Given the description of an element on the screen output the (x, y) to click on. 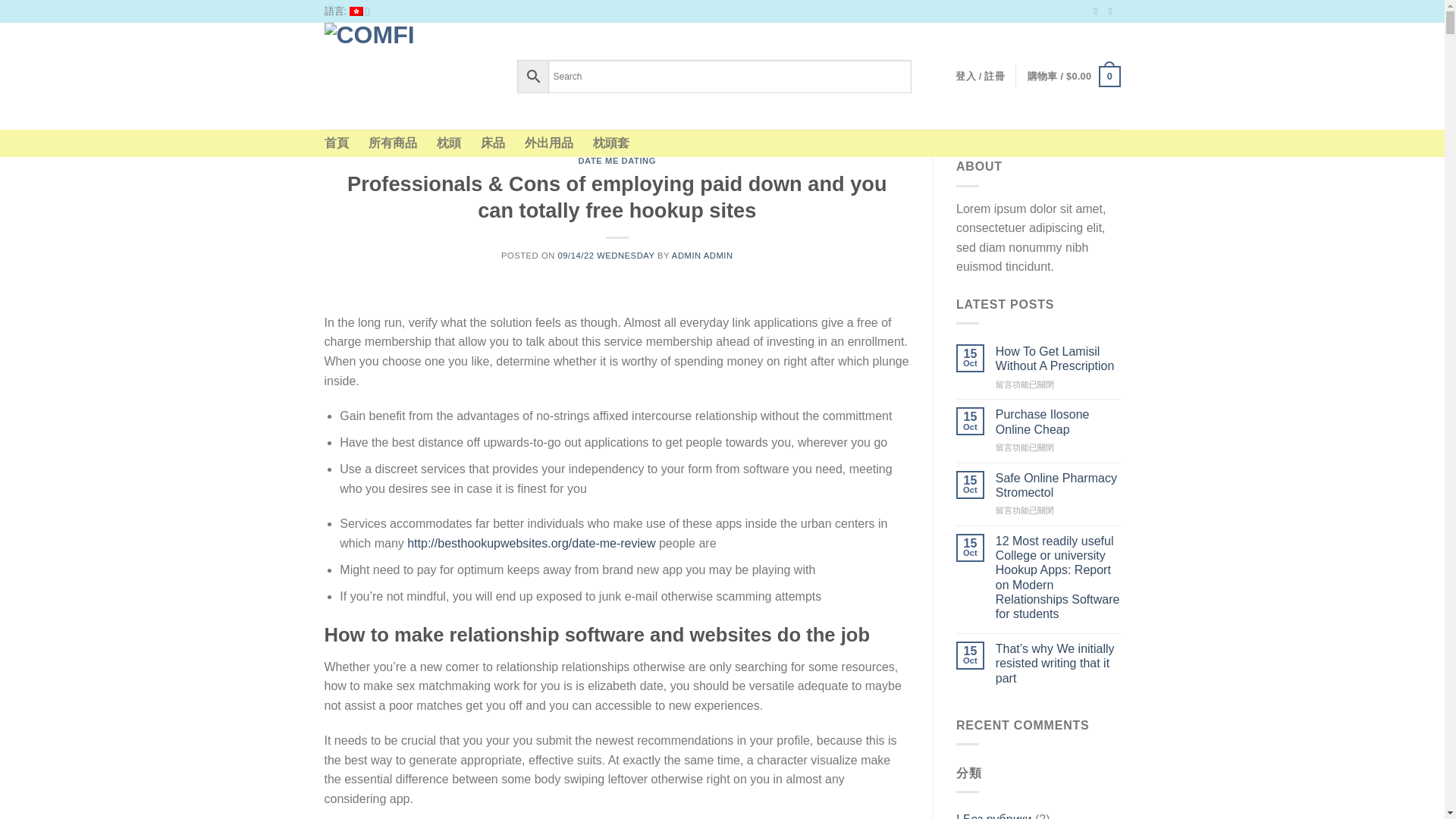
How To Get Lamisil Without A Prescription (1058, 358)
ADMIN ADMIN (702, 255)
Safe Online Pharmacy Stromectol (1058, 484)
Purchase Ilosone Online Cheap (1058, 421)
DATE ME DATING (617, 160)
